Given the description of an element on the screen output the (x, y) to click on. 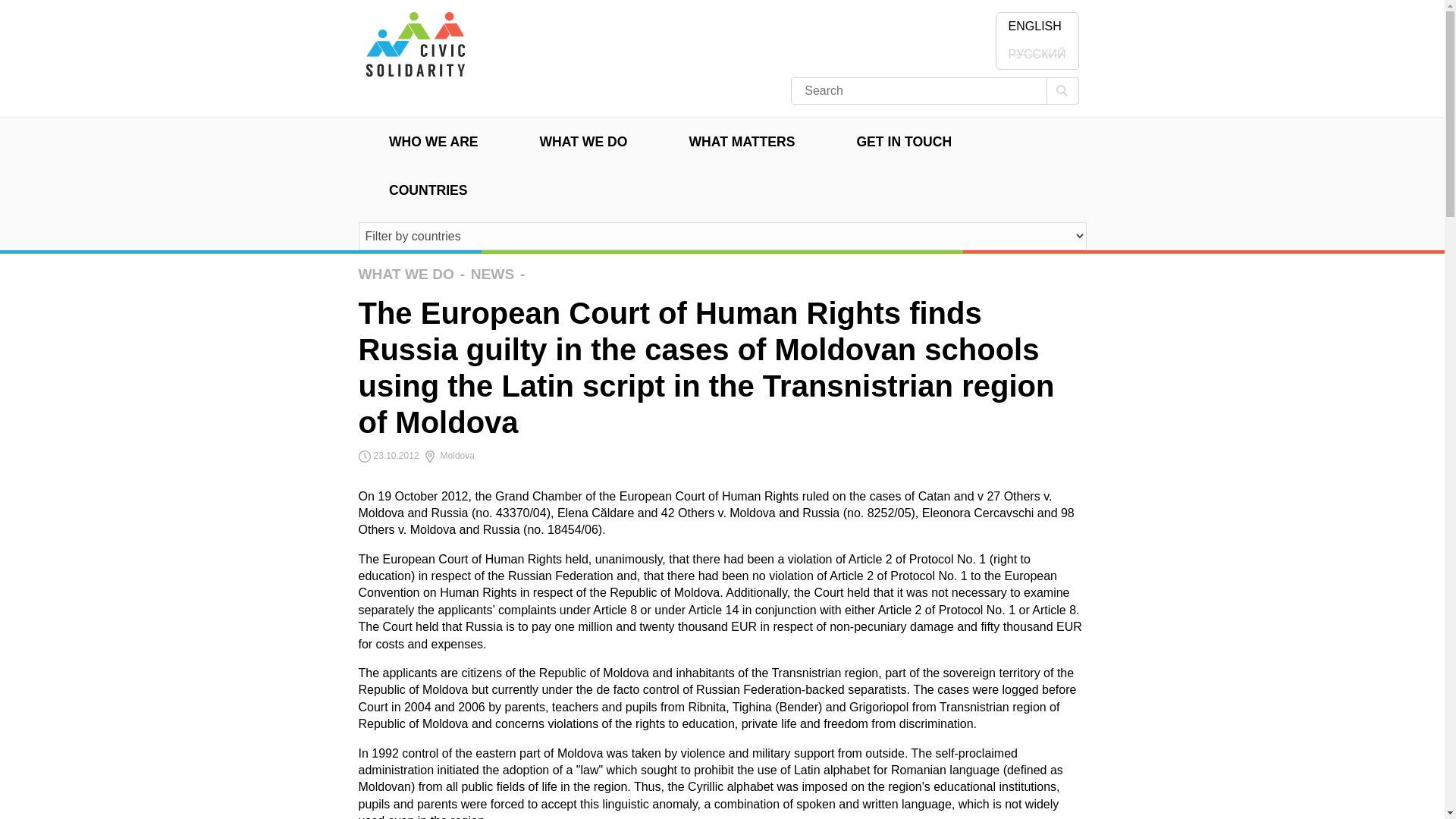
Search (1061, 90)
ENGLISH (1034, 26)
GET IN TOUCH (903, 142)
Search (1061, 90)
Moldova (449, 455)
Enter the terms you wish to search for. (907, 90)
NEWS (492, 273)
Home (414, 67)
